Given the description of an element on the screen output the (x, y) to click on. 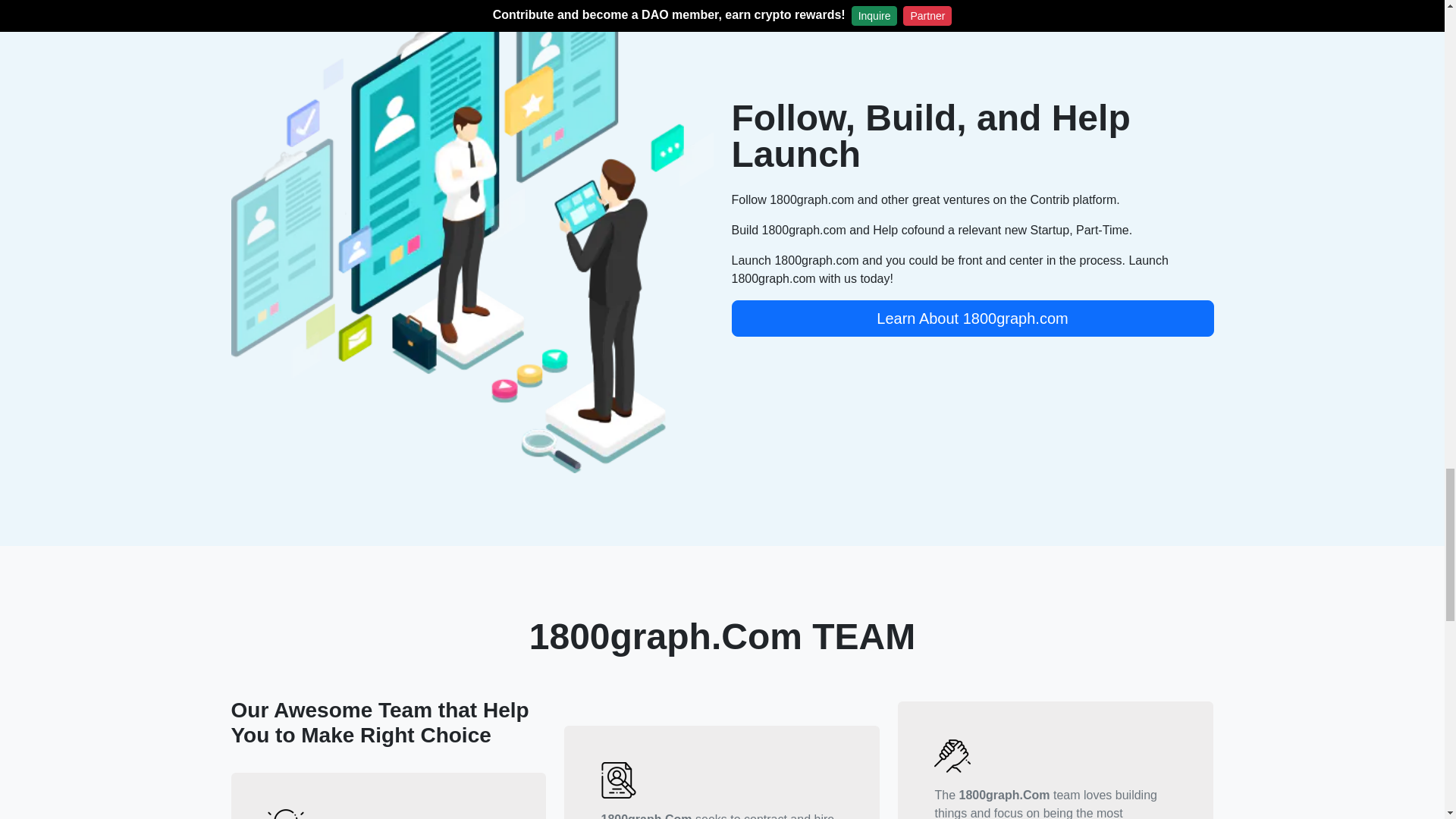
Learn About 1800graph.com (971, 318)
